Given the description of an element on the screen output the (x, y) to click on. 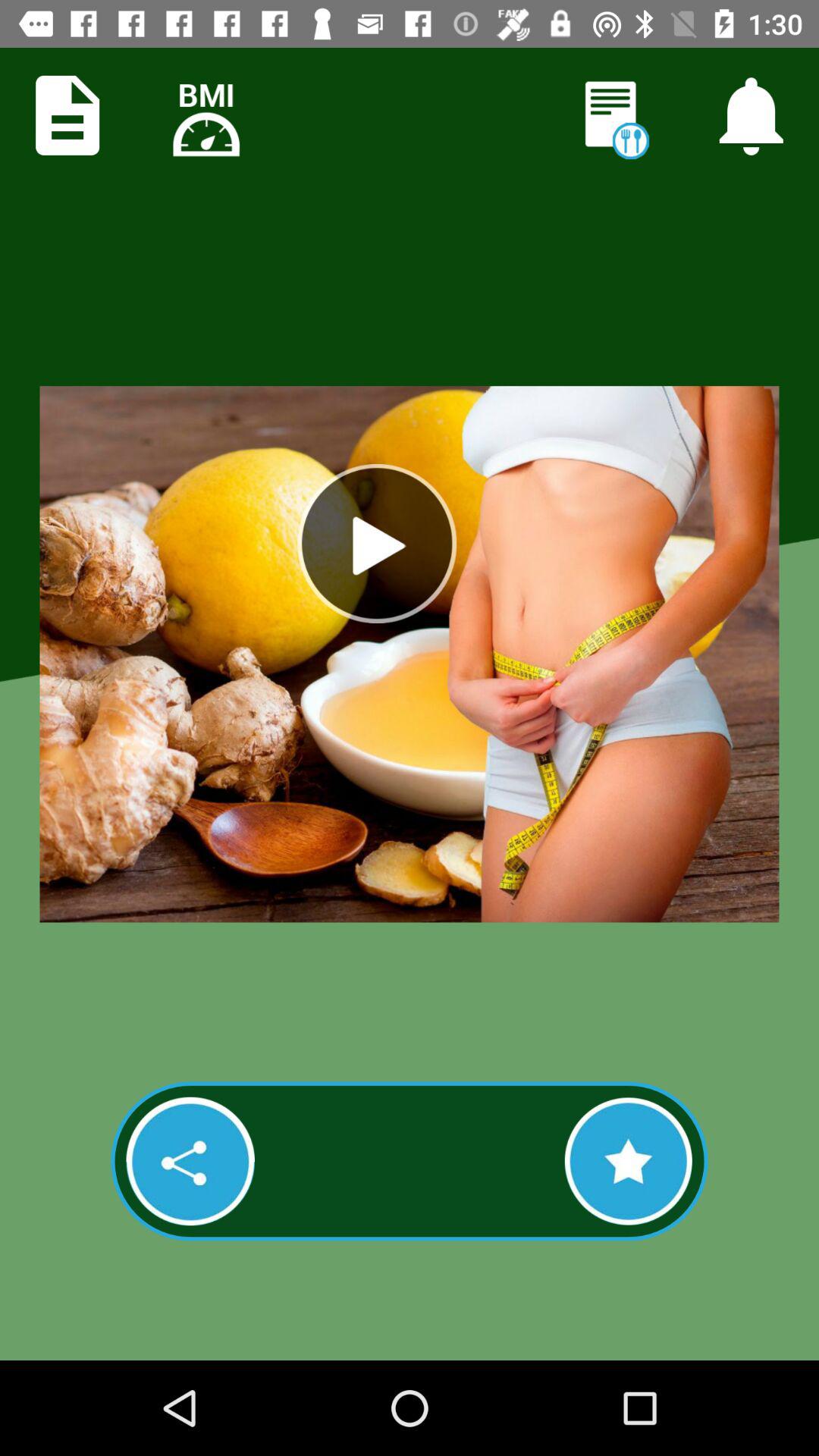
check notifications (751, 115)
